Given the description of an element on the screen output the (x, y) to click on. 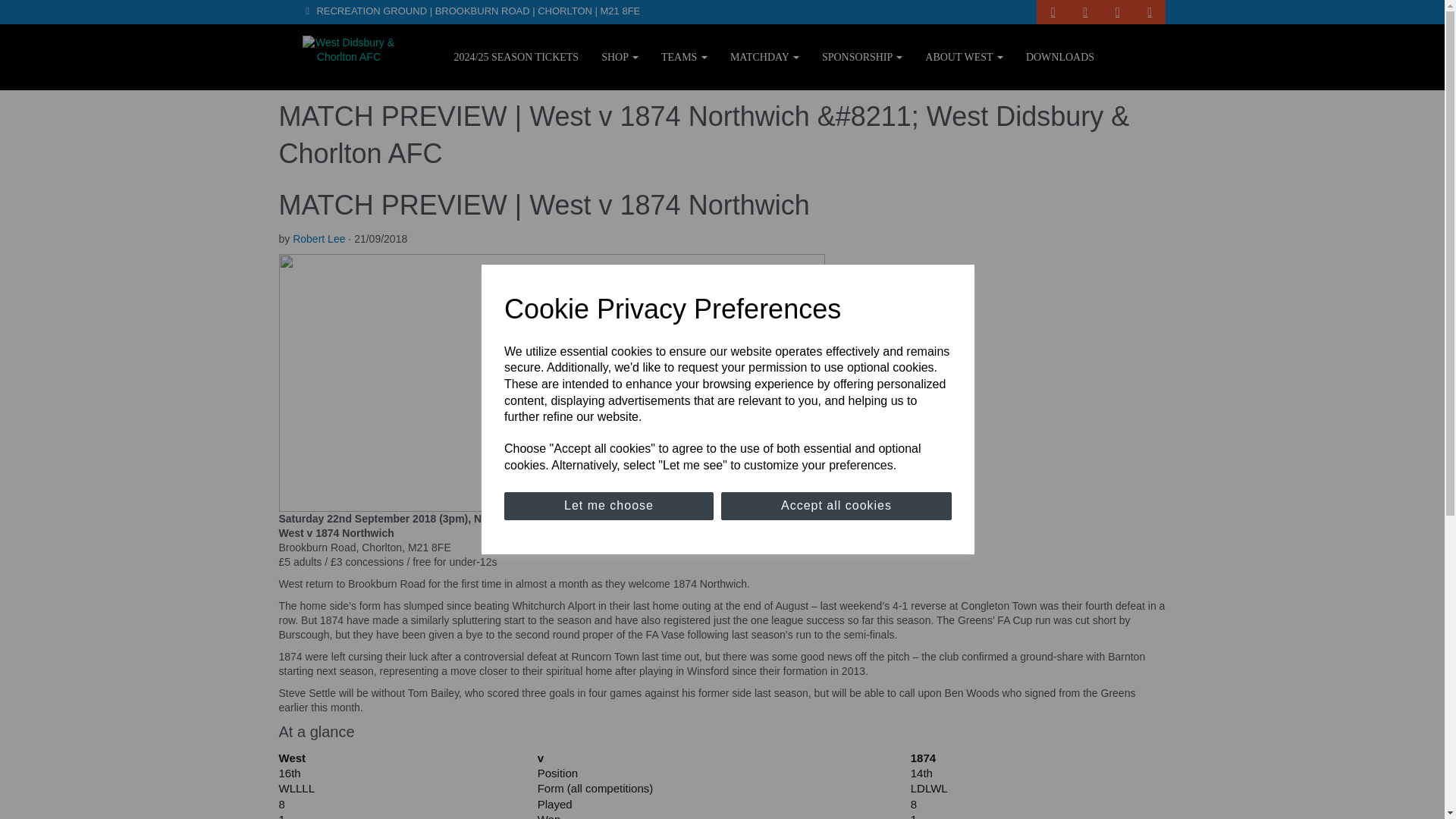
Accept all cookies (836, 506)
TEAMS (684, 56)
SHOP (619, 56)
MATCHDAY (764, 56)
Posts by Robert Lee (318, 238)
Let me choose (608, 506)
